Given the description of an element on the screen output the (x, y) to click on. 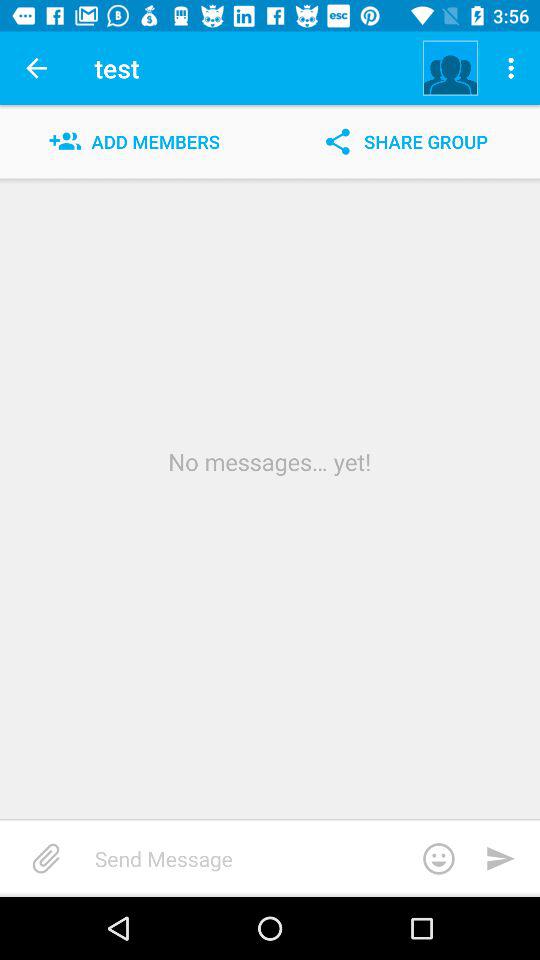
type in message (282, 858)
